Given the description of an element on the screen output the (x, y) to click on. 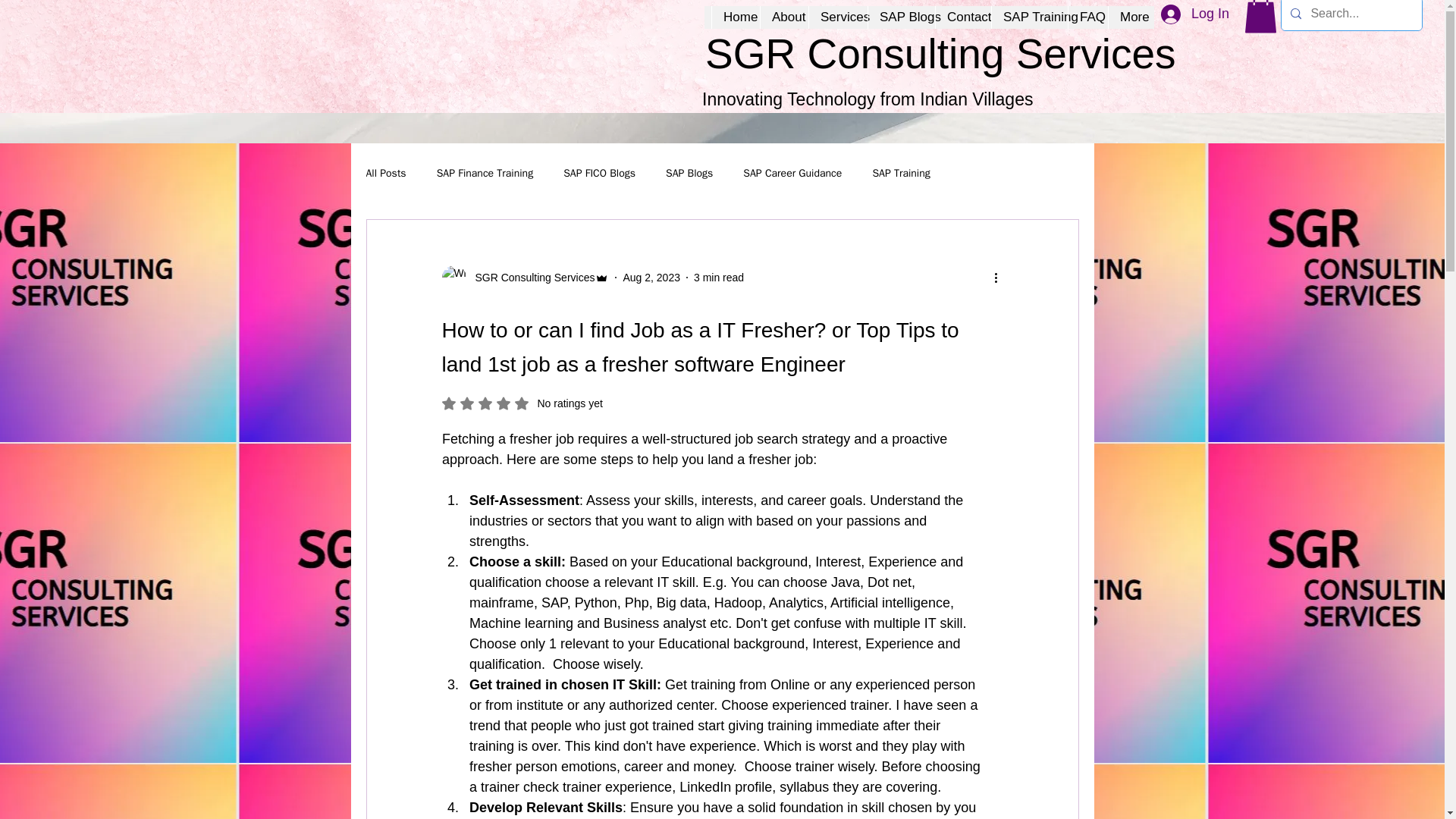
Contact (521, 403)
SAP Blogs (962, 16)
SGR Consulting Services (900, 16)
FAQ (529, 277)
SAP Training (1087, 16)
All Posts (1029, 16)
3 min read (385, 173)
Log In (719, 277)
SAP FICO Blogs (1195, 15)
